Given the description of an element on the screen output the (x, y) to click on. 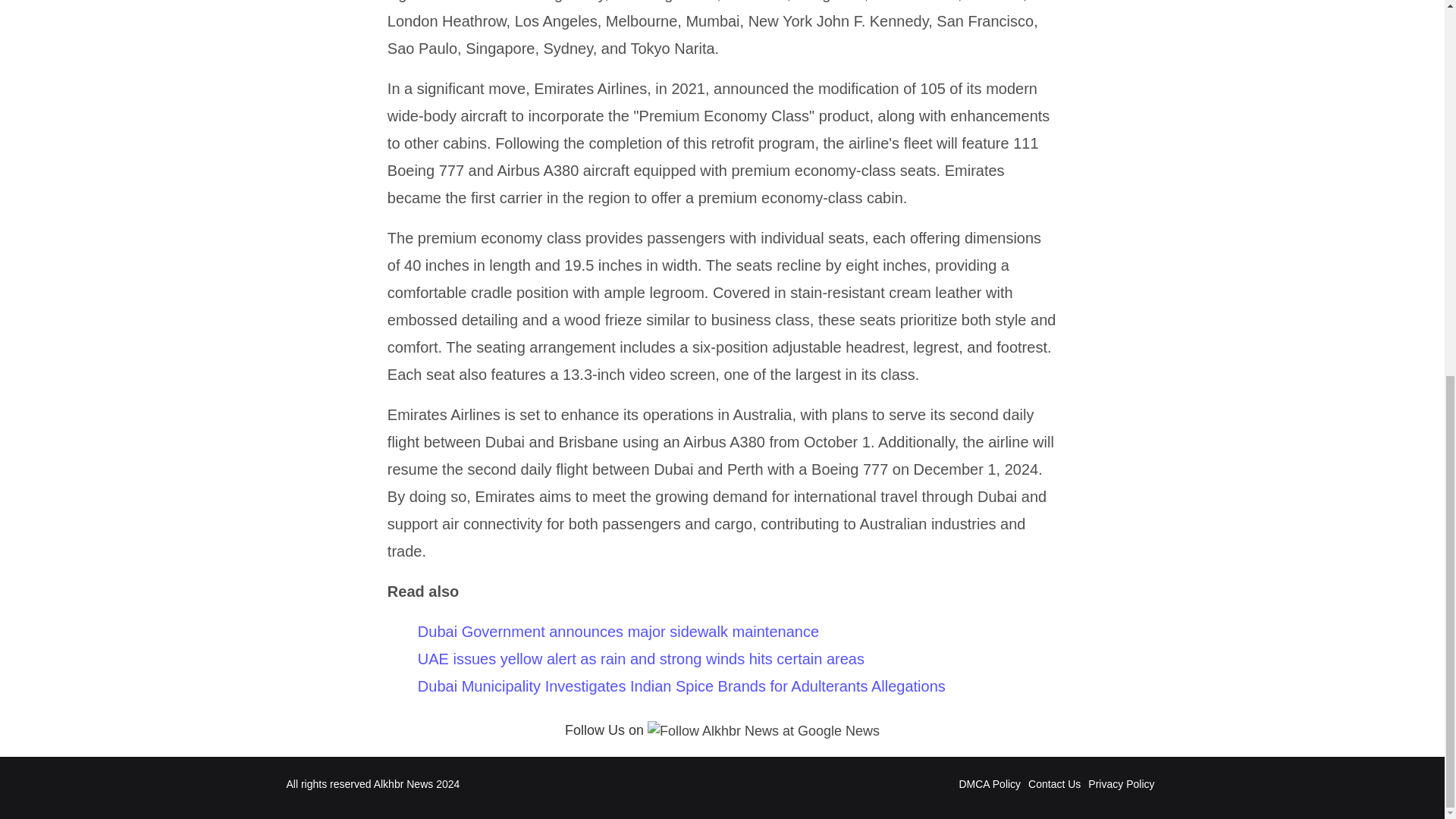
Privacy Policy (1120, 784)
Dubai Government announces major sidewalk maintenance (617, 631)
DMCA Policy (989, 784)
Contact Us (1053, 784)
